Given the description of an element on the screen output the (x, y) to click on. 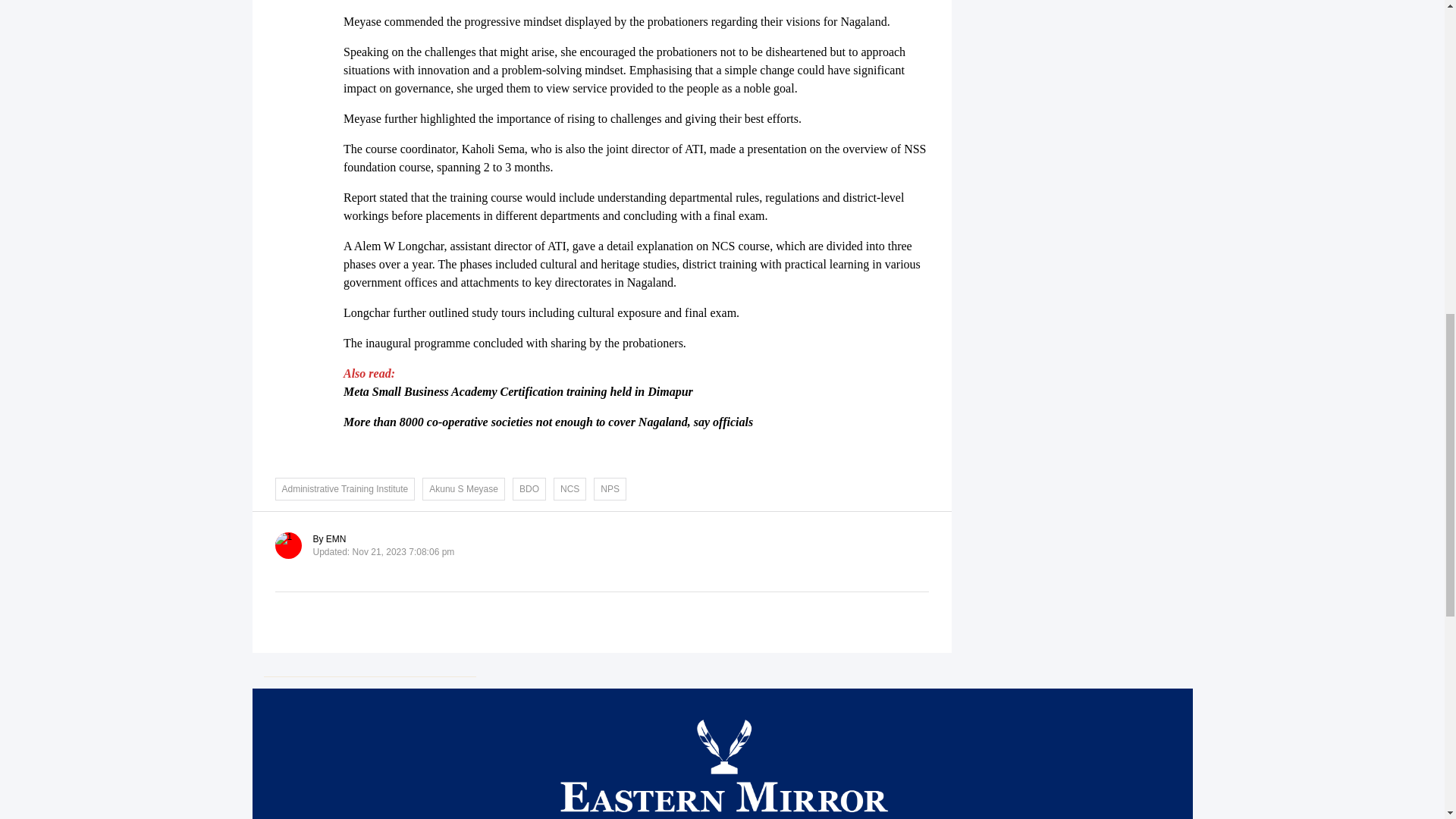
Eastern Mirror (721, 780)
